Given the description of an element on the screen output the (x, y) to click on. 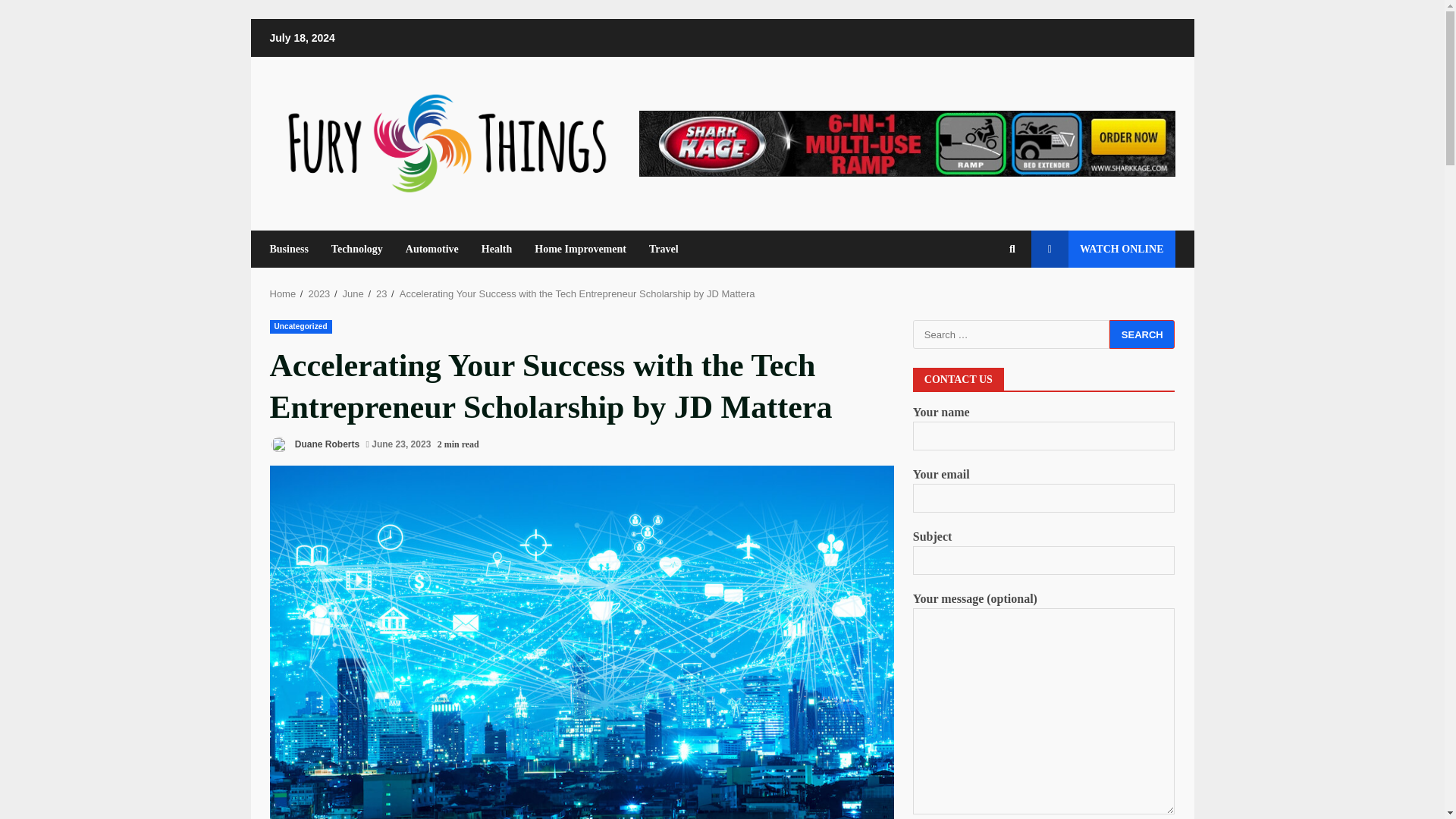
Uncategorized (300, 326)
Search (1141, 334)
Duane Roberts (314, 444)
Technology (357, 248)
Business (294, 248)
Search (984, 300)
Home Improvement (579, 248)
Home (283, 293)
Automotive (432, 248)
Travel (657, 248)
June (353, 293)
23 (381, 293)
WATCH ONLINE (1102, 248)
